Given the description of an element on the screen output the (x, y) to click on. 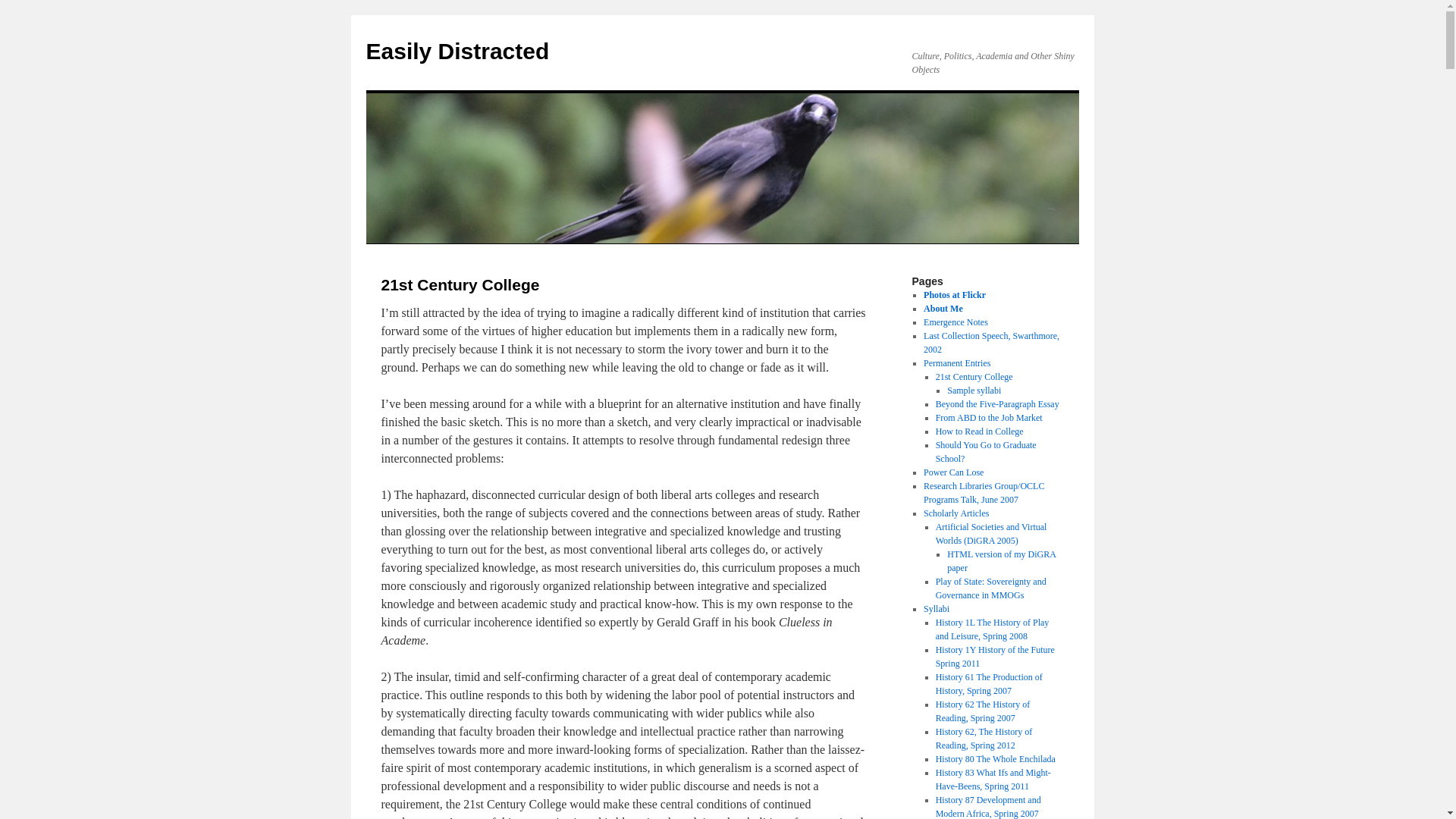
Last Collection Speech, Swarthmore, 2002 (991, 342)
About Me (942, 308)
History 61 The Production of History, Spring 2007 (989, 683)
From ABD to the Job Market (989, 417)
Beyond the Five-Paragraph Essay (997, 403)
Should You Go to Graduate School? (986, 451)
History 80 The Whole Enchilada (995, 758)
History 62 The History of Reading, Spring 2007 (982, 711)
History 1Y History of the Future Spring 2011 (995, 656)
Permanent Entries (956, 362)
Easily Distracted (456, 50)
21st Century College (974, 376)
History 87 Development and Modern Africa, Spring 2007 (988, 806)
Play of State: Sovereignty and Governance in MMOGs (991, 588)
Sample syllabi (974, 389)
